Given the description of an element on the screen output the (x, y) to click on. 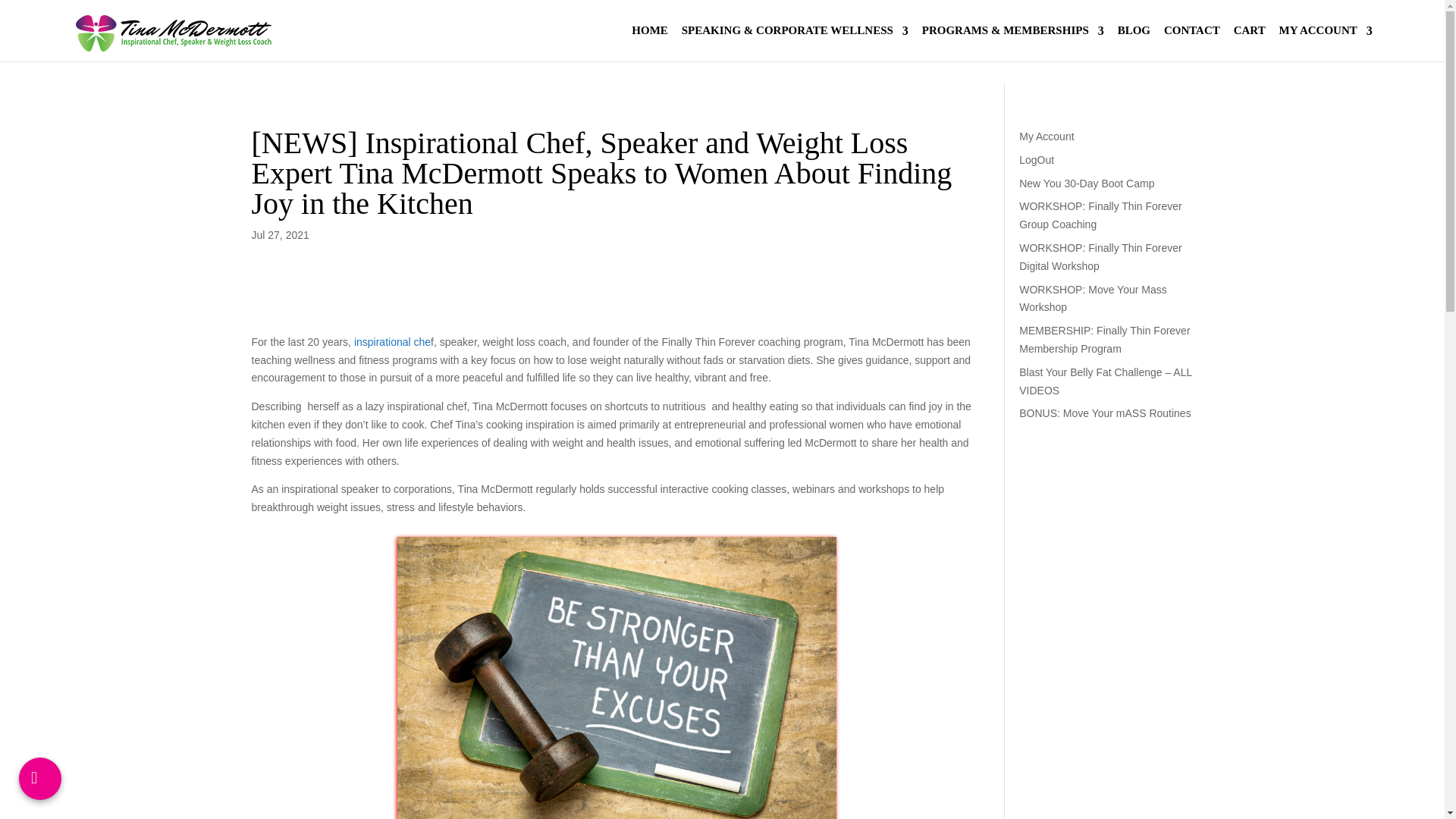
excuses (616, 678)
BLOG (1134, 43)
MY ACCOUNT (1326, 43)
HOME (649, 43)
CONTACT (1191, 43)
inspirational che (391, 341)
